Given the description of an element on the screen output the (x, y) to click on. 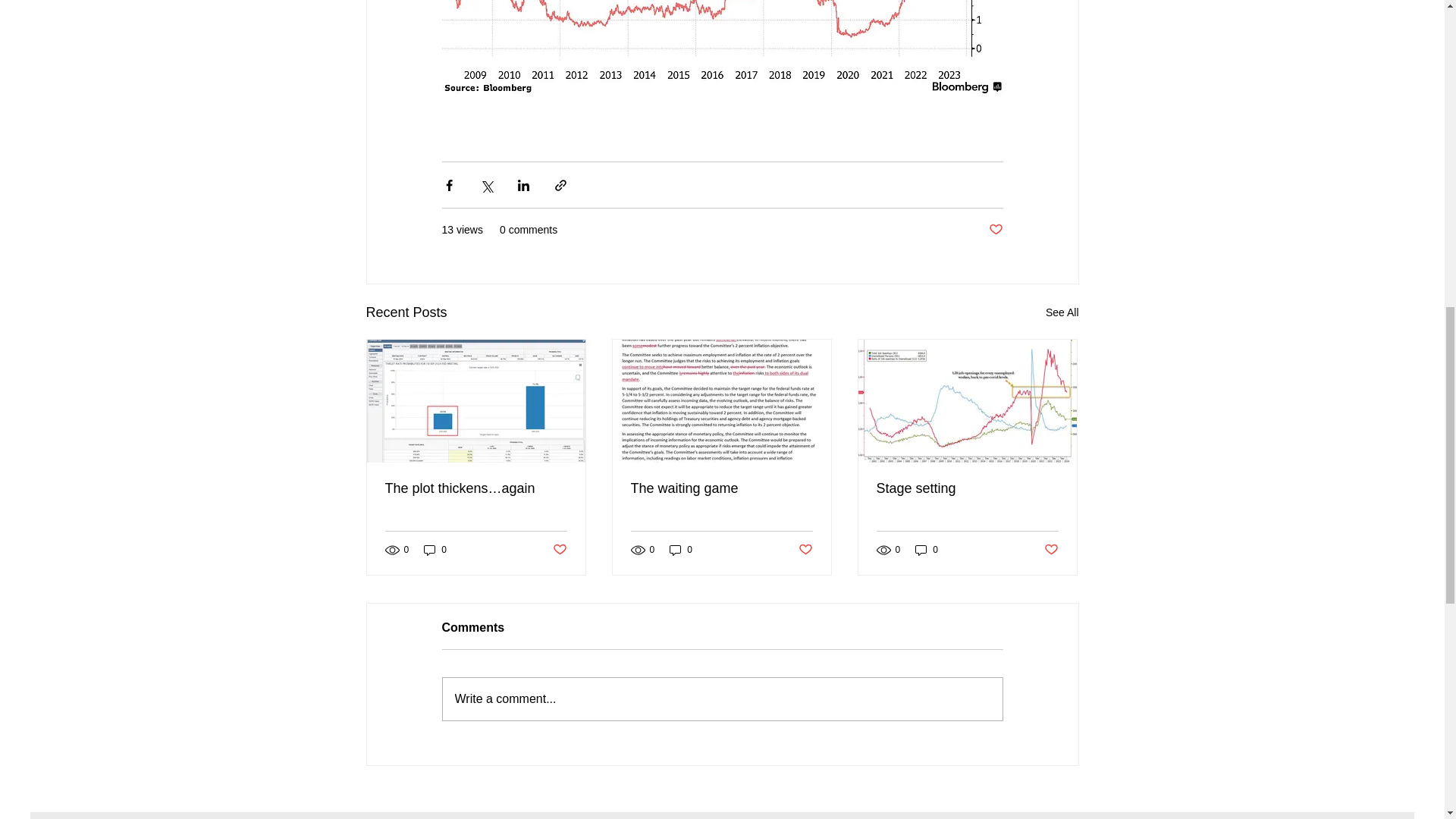
0 (926, 549)
0 (681, 549)
0 (435, 549)
Stage setting (967, 488)
Post not marked as liked (1050, 549)
Post not marked as liked (804, 549)
Post not marked as liked (558, 549)
Post not marked as liked (995, 229)
The waiting game (721, 488)
Write a comment... (722, 699)
See All (1061, 312)
